Given the description of an element on the screen output the (x, y) to click on. 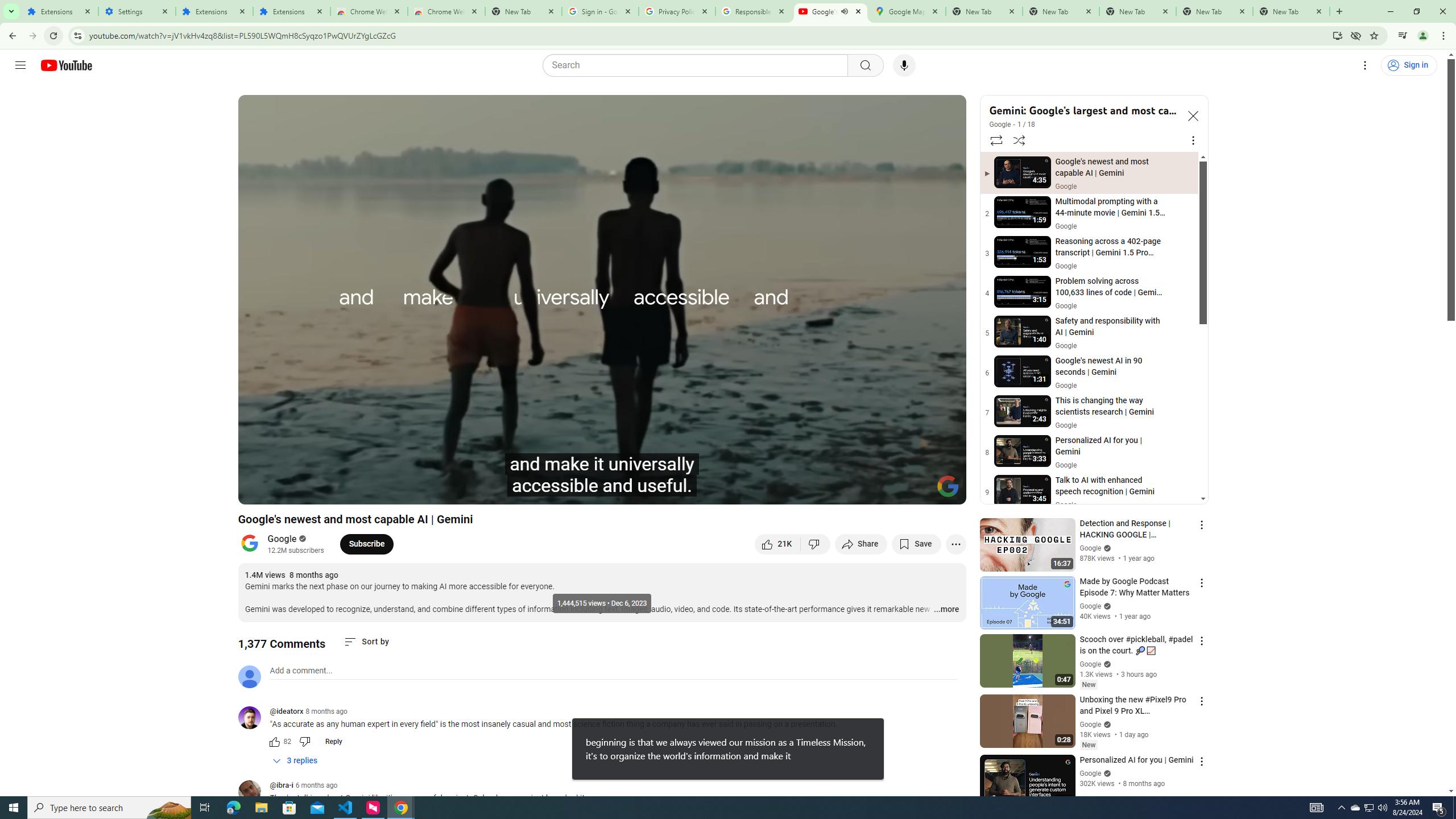
Play (k) (285, 490)
Theater mode (t) (917, 490)
Share (861, 543)
YouTube Home (66, 65)
8 months ago (326, 710)
Channel watermark (947, 486)
Sign in - Google Accounts (599, 11)
3 replies (295, 761)
